Given the description of an element on the screen output the (x, y) to click on. 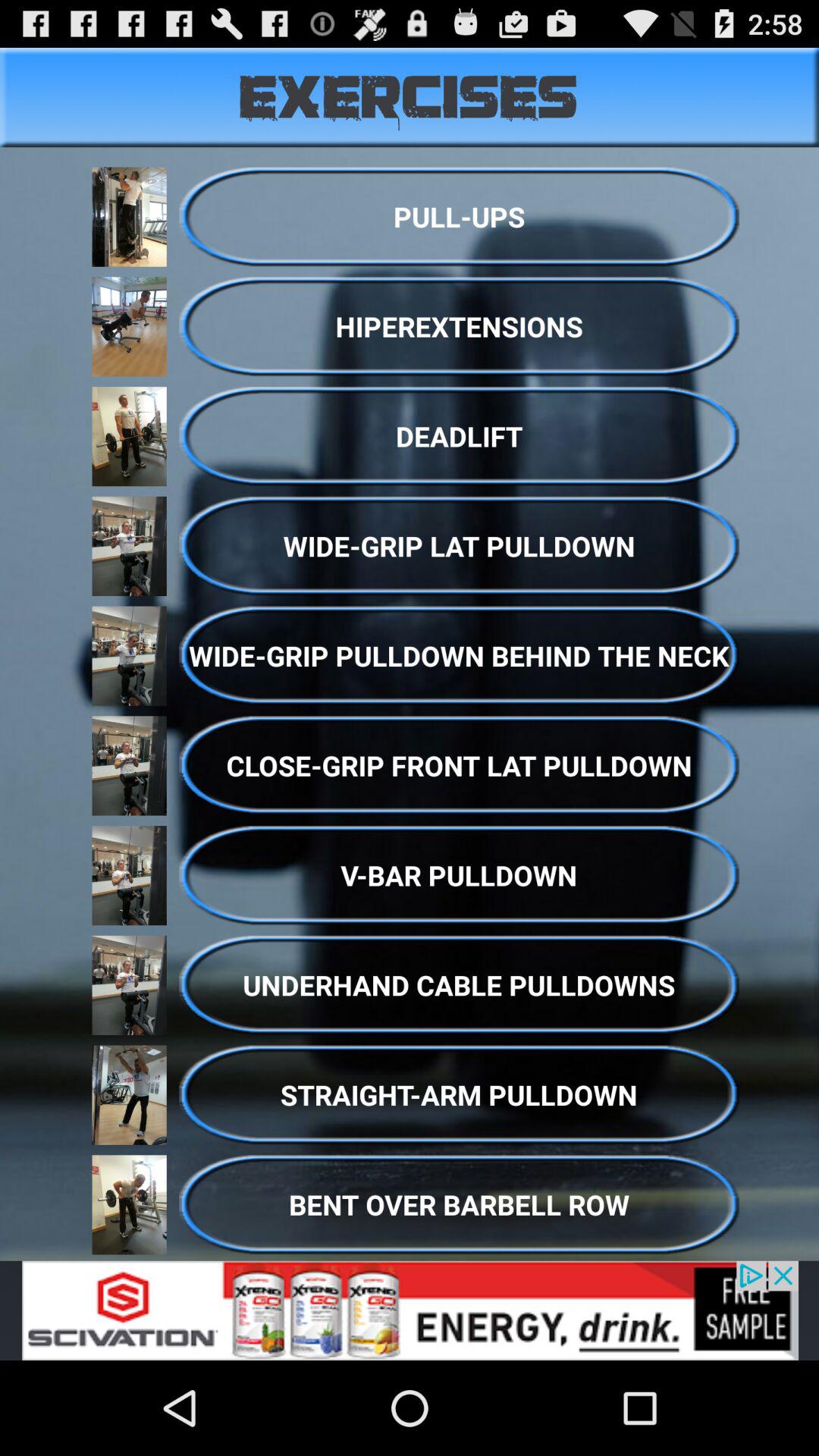
open advertisement (409, 1310)
